Given the description of an element on the screen output the (x, y) to click on. 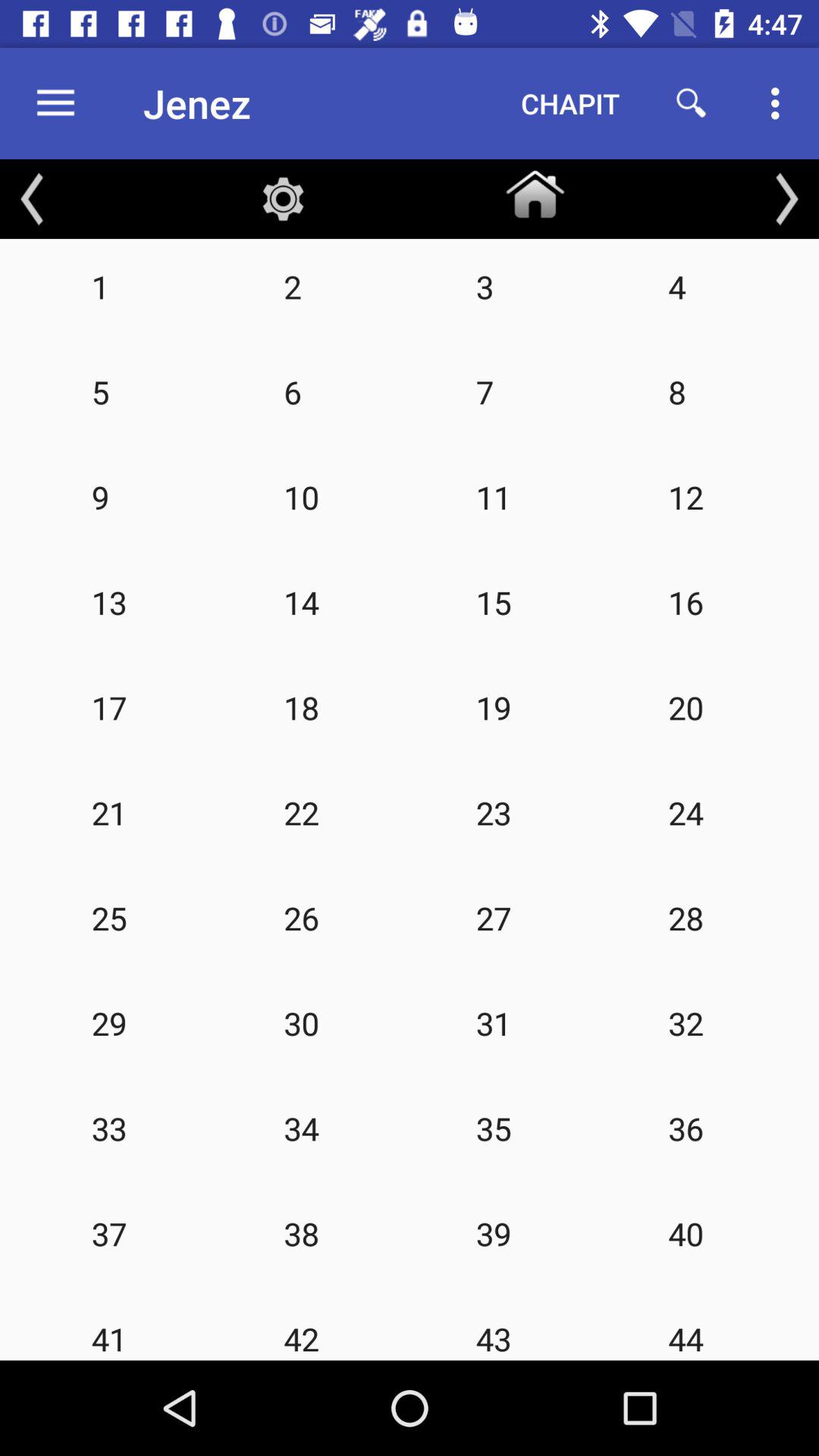
click on the home button below chapit (535, 190)
select the settings button in the page (283, 199)
click on the search icon at the top right of the page (691, 103)
click on the search icon at the top right of the page (691, 103)
